Given the description of an element on the screen output the (x, y) to click on. 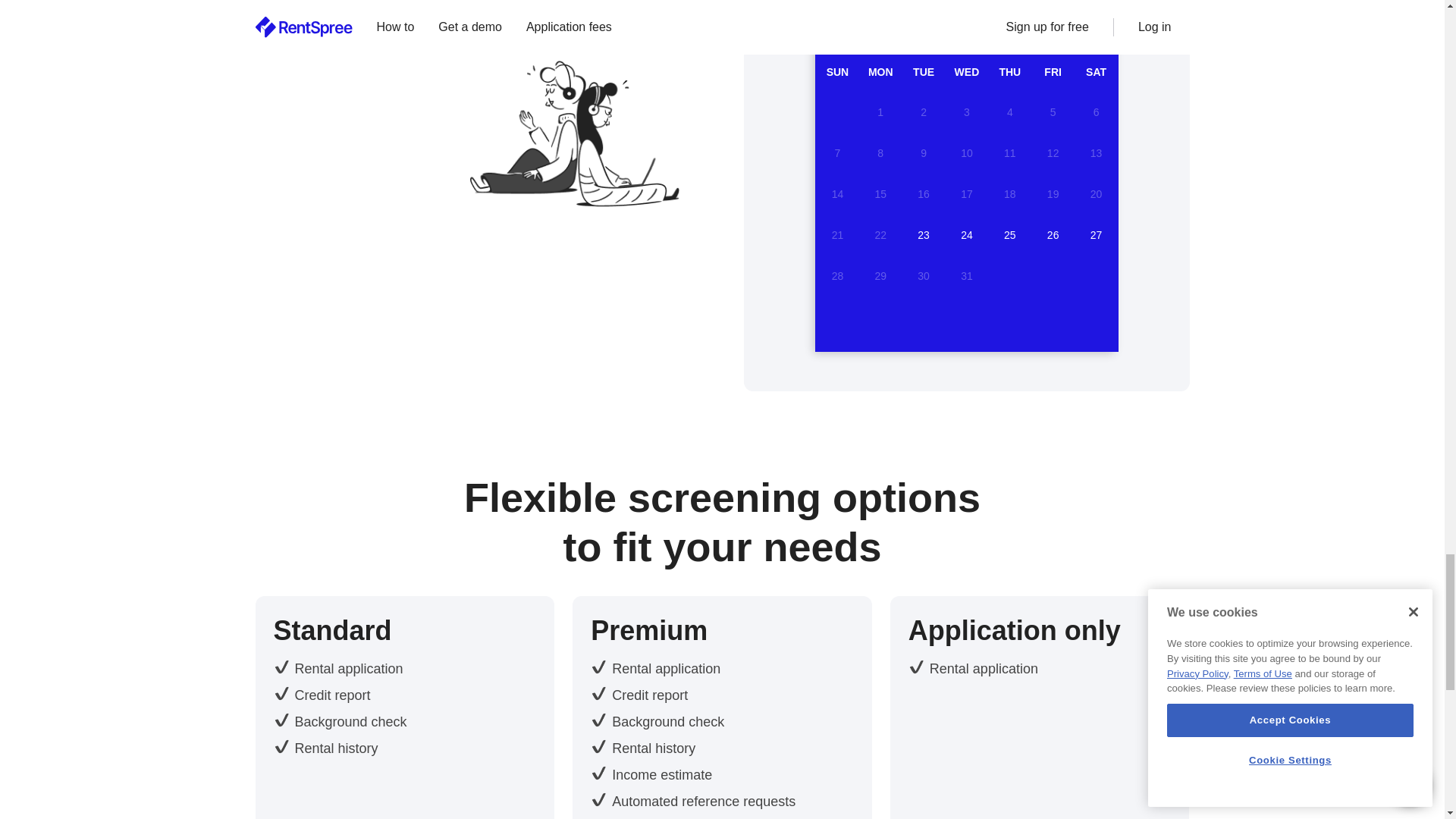
Contact support (389, 18)
